Given the description of an element on the screen output the (x, y) to click on. 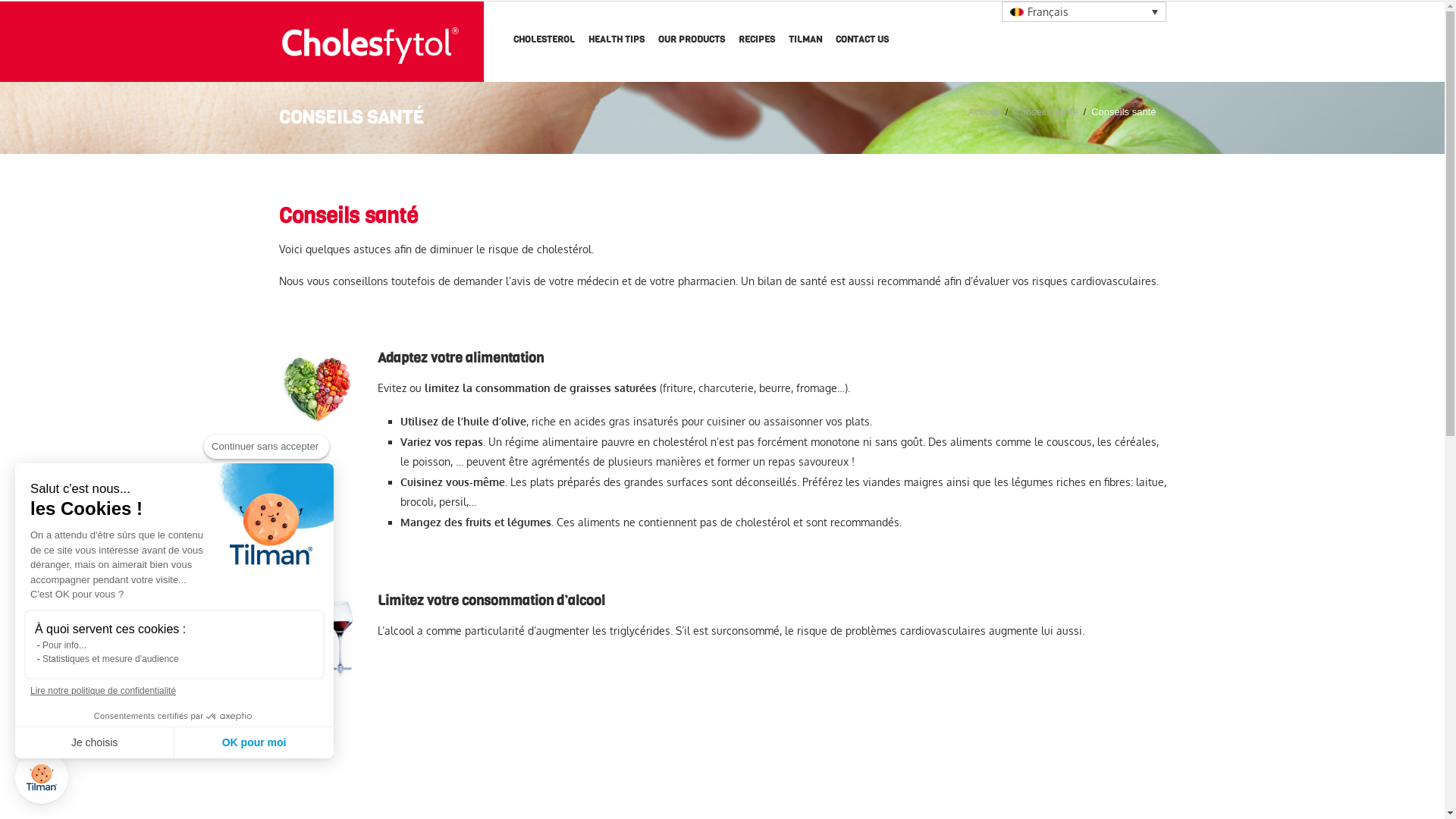
CHOLESTEROL Element type: text (543, 41)
Adaptez votre alimentation Element type: hover (316, 388)
TILMAN Element type: text (805, 41)
CONTACT US Element type: text (861, 41)
RECIPES Element type: text (756, 41)
OUR PRODUCTS Element type: text (691, 41)
HEALTH TIPS Element type: text (616, 41)
Accueil Element type: text (984, 111)
